Given the description of an element on the screen output the (x, y) to click on. 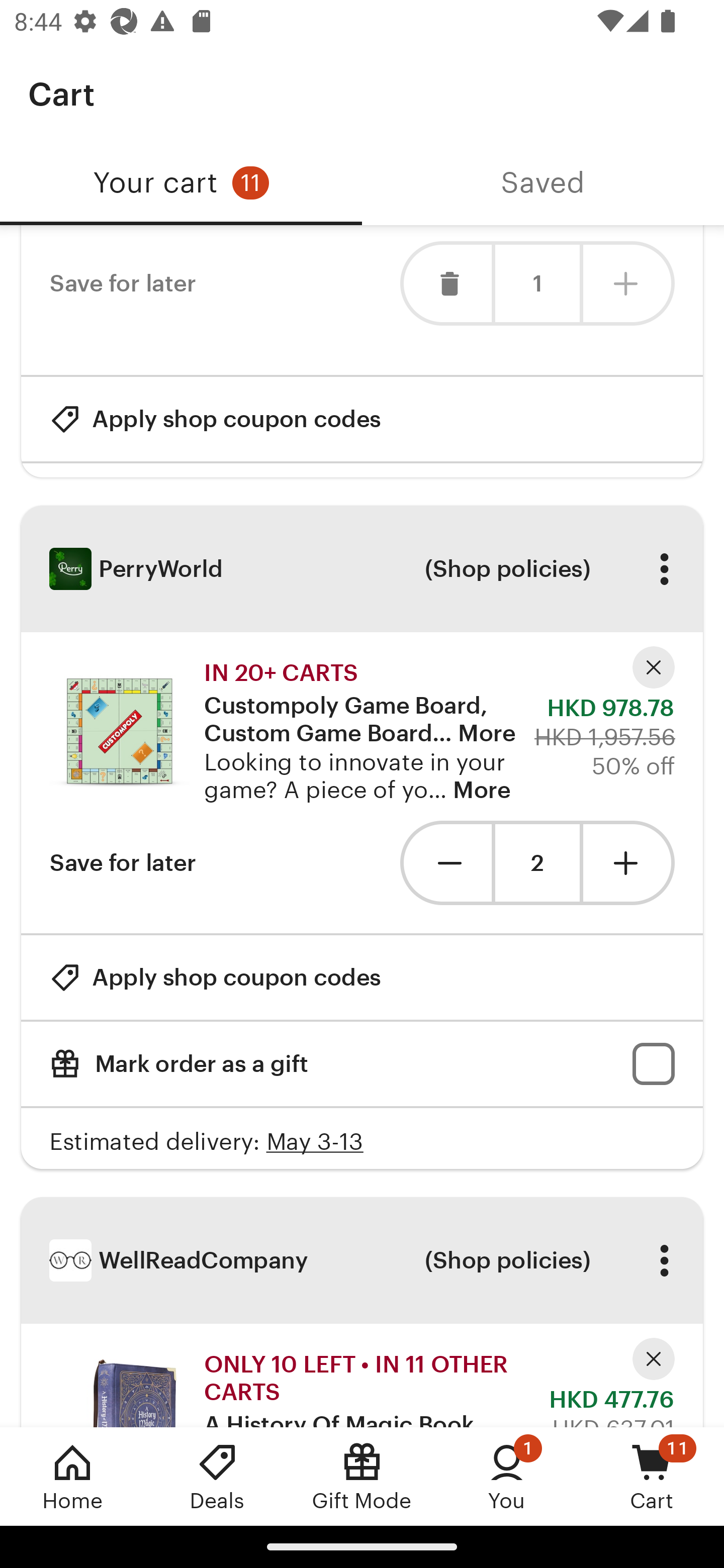
Saved, tab 2 of 2 Saved (543, 183)
Apply shop coupon codes (215, 418)
PerryWorld (Shop policies) More options (361, 567)
(Shop policies) (507, 568)
More options (663, 568)
Save for later (122, 862)
Remove one unit from cart (445, 862)
Add one unit to cart (628, 862)
2 (537, 863)
Apply shop coupon codes (215, 976)
Mark order as a gift (361, 1063)
WellReadCompany (Shop policies) More options (361, 1259)
(Shop policies) (507, 1260)
More options (663, 1260)
Home (72, 1475)
Deals (216, 1475)
Gift Mode (361, 1475)
You, 1 new notification You (506, 1475)
